Given the description of an element on the screen output the (x, y) to click on. 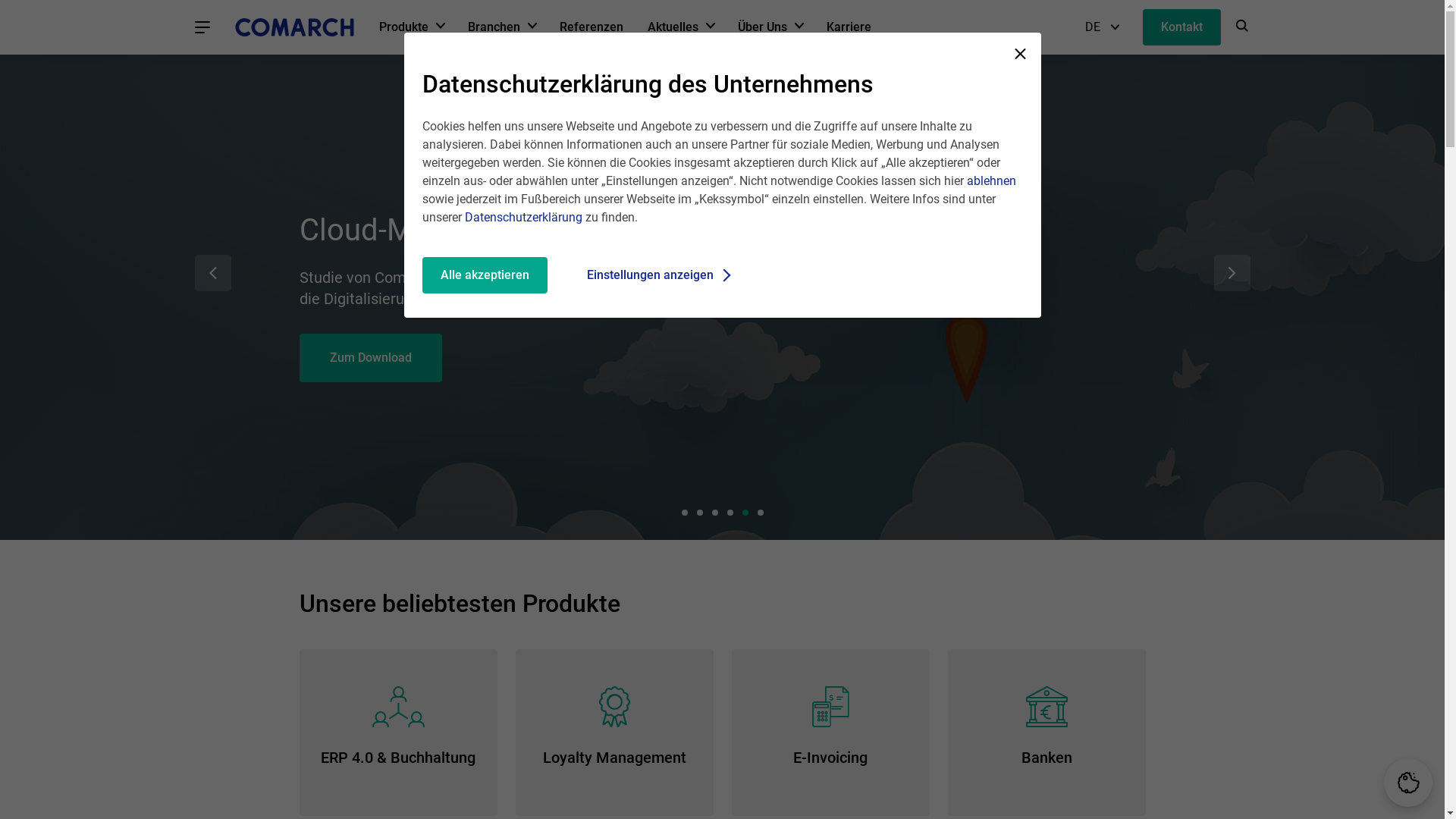
Zum Download Element type: text (369, 365)
Banken Element type: text (1046, 732)
Jetzt informieren Element type: text (376, 347)
DE Element type: text (1100, 27)
Zum Download Element type: text (369, 347)
Mehr erfahren Element type: text (368, 383)
Suche Element type: hover (1241, 26)
COMARCH Element type: text (293, 27)
Loyalty Management Element type: text (614, 732)
Einstellungen anzeigen Element type: text (654, 275)
Referenzen Element type: text (591, 27)
ERP 4.0 & Buchhaltung Element type: text (397, 732)
Karriere Element type: text (848, 27)
Jetzt ansehen Element type: text (367, 365)
Alle akzeptieren Element type: text (483, 275)
E-Invoicing Element type: text (829, 732)
ablehnen Element type: text (990, 180)
Kontakt Element type: text (1181, 27)
